Given the description of an element on the screen output the (x, y) to click on. 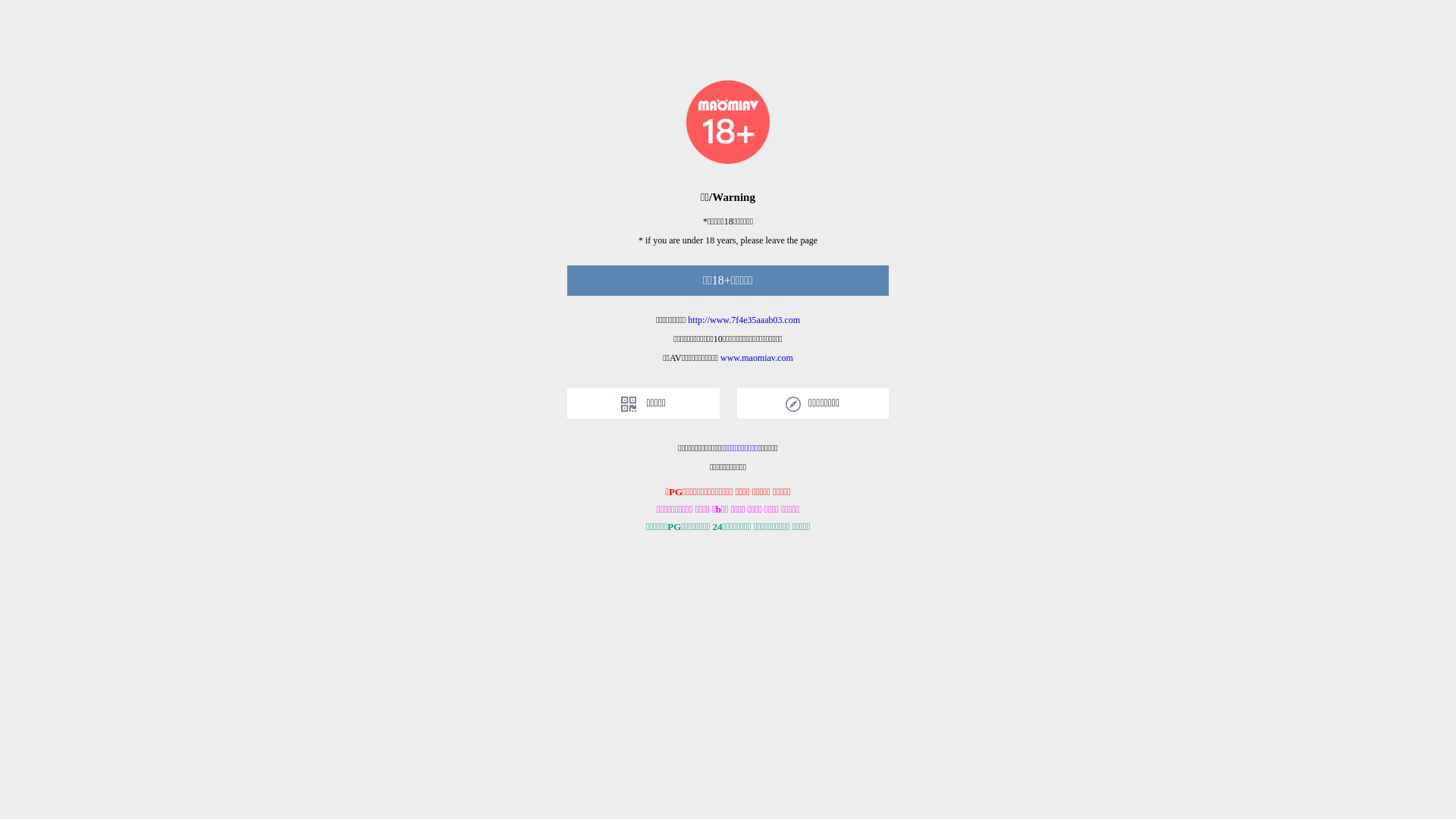
www.maomiav.com Element type: text (756, 357)
http://www.7f4e35aaab03.com Element type: text (743, 319)
